Given the description of an element on the screen output the (x, y) to click on. 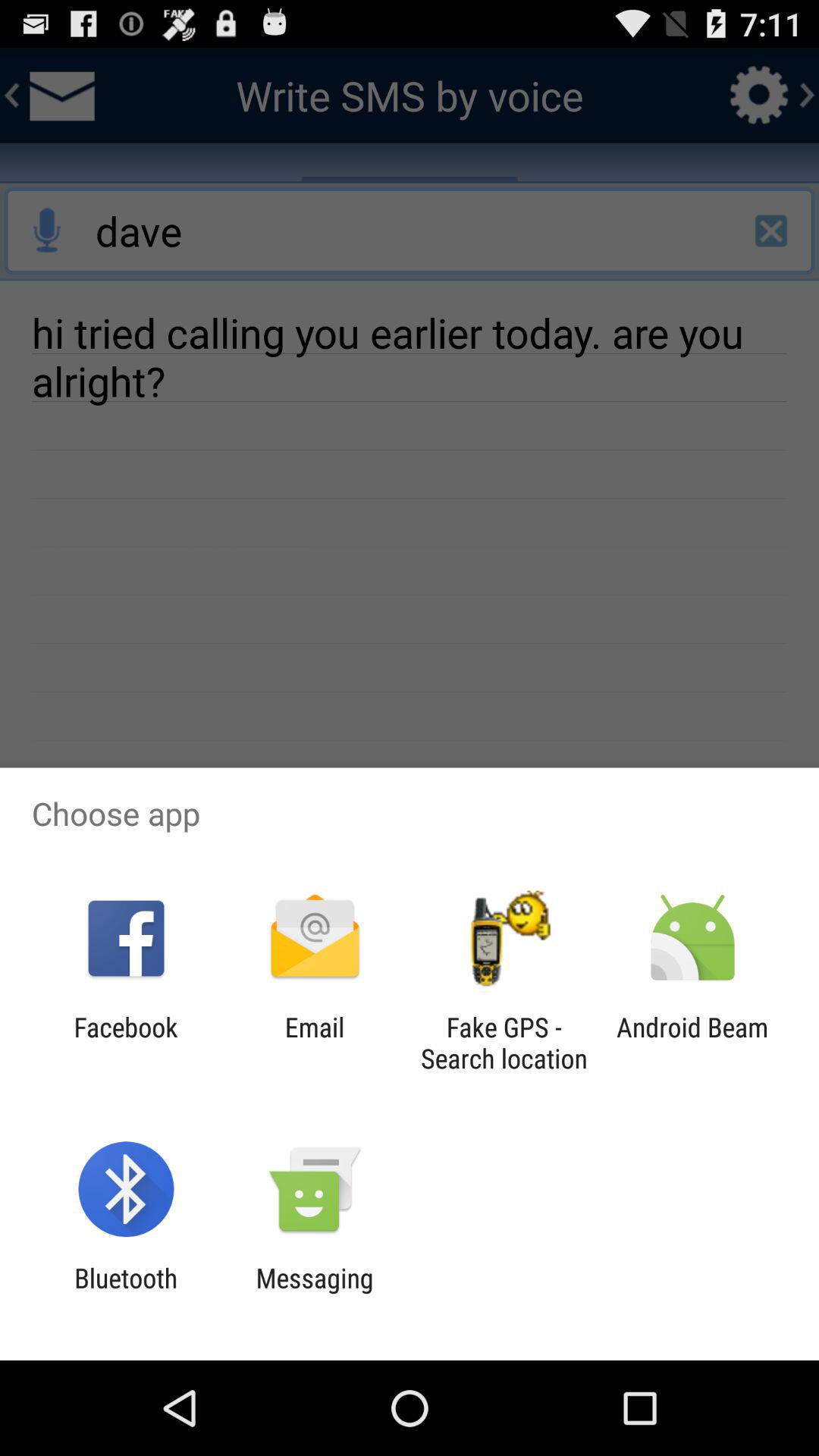
jump to the fake gps search app (503, 1042)
